Given the description of an element on the screen output the (x, y) to click on. 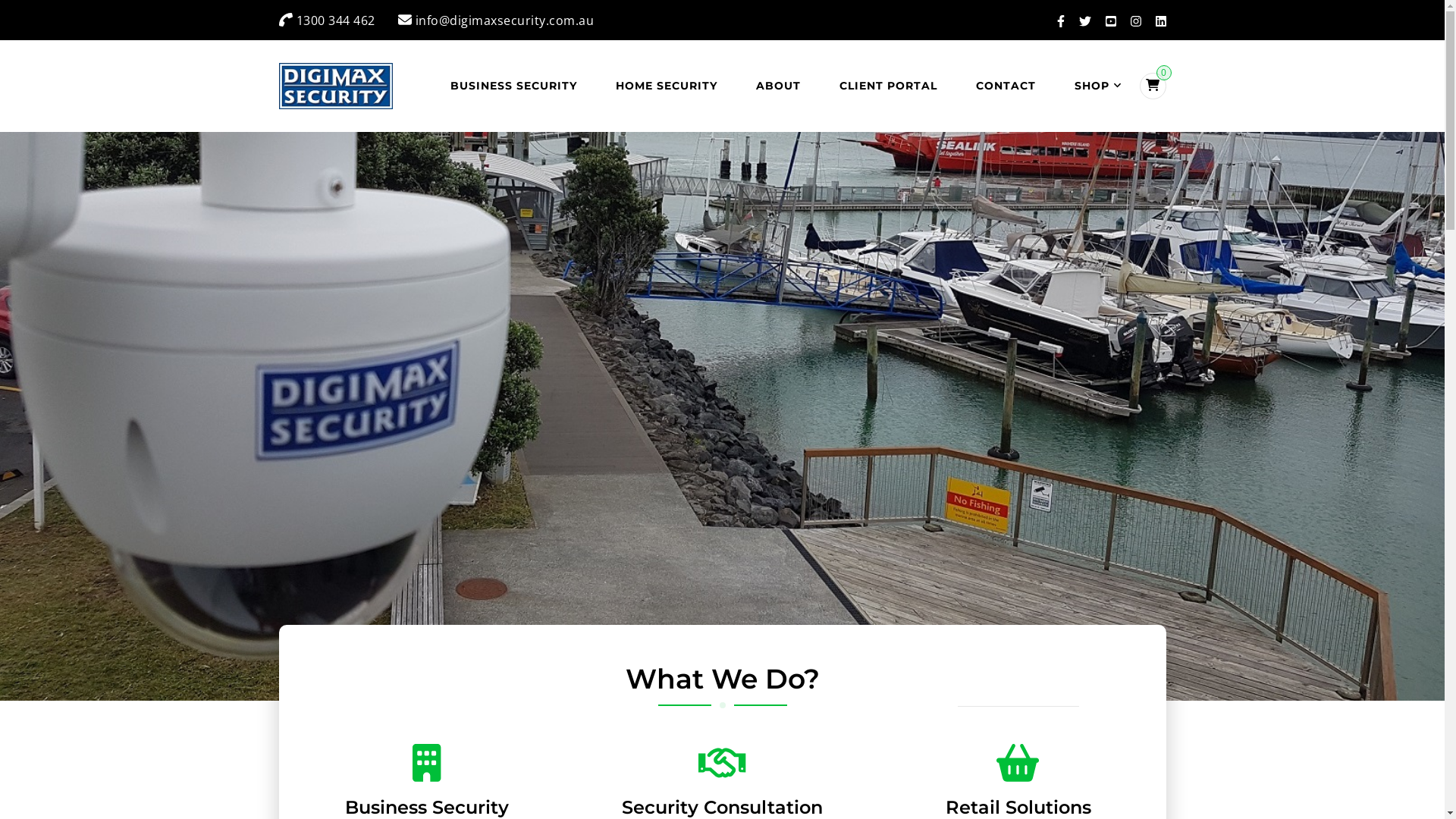
info@digimaxsecurity.com.au Element type: text (504, 20)
CONTACT Element type: text (1004, 86)
BUSINESS SECURITY Element type: text (513, 86)
Digimax Security Element type: text (408, 79)
CLIENT PORTAL Element type: text (887, 86)
SHOP Element type: text (1093, 86)
HOME SECURITY Element type: text (666, 86)
0 Element type: text (1152, 85)
1300 344 462 Element type: text (334, 20)
ABOUT Element type: text (777, 86)
